Given the description of an element on the screen output the (x, y) to click on. 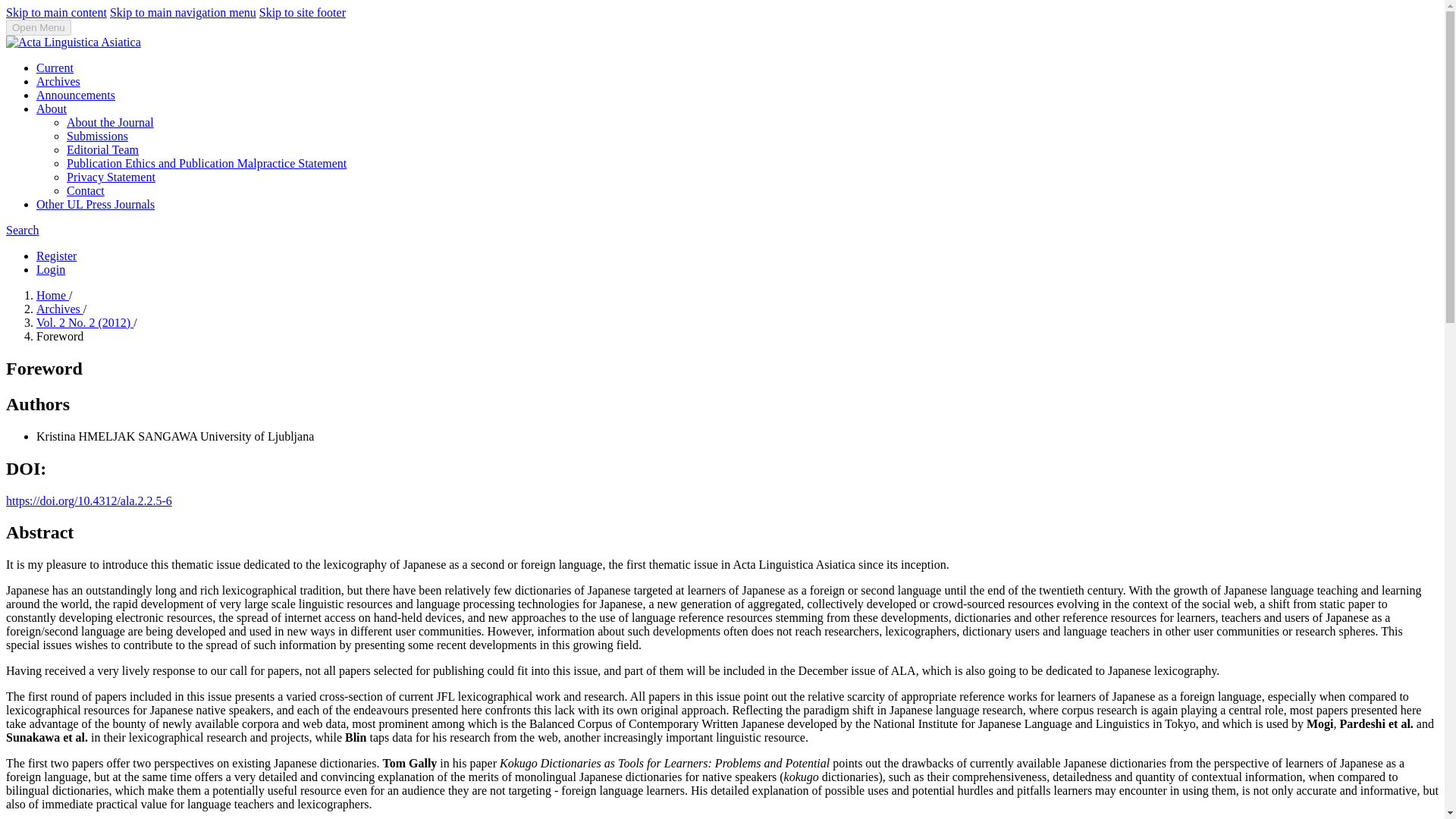
Privacy Statement (110, 176)
Register (56, 255)
About the Journal (110, 122)
Contact (85, 190)
Search (22, 229)
Editorial Team (102, 149)
Publication Ethics and Publication Malpractice Statement (206, 163)
Submissions (97, 135)
Announcements (75, 94)
Other UL Press Journals (95, 204)
